Given the description of an element on the screen output the (x, y) to click on. 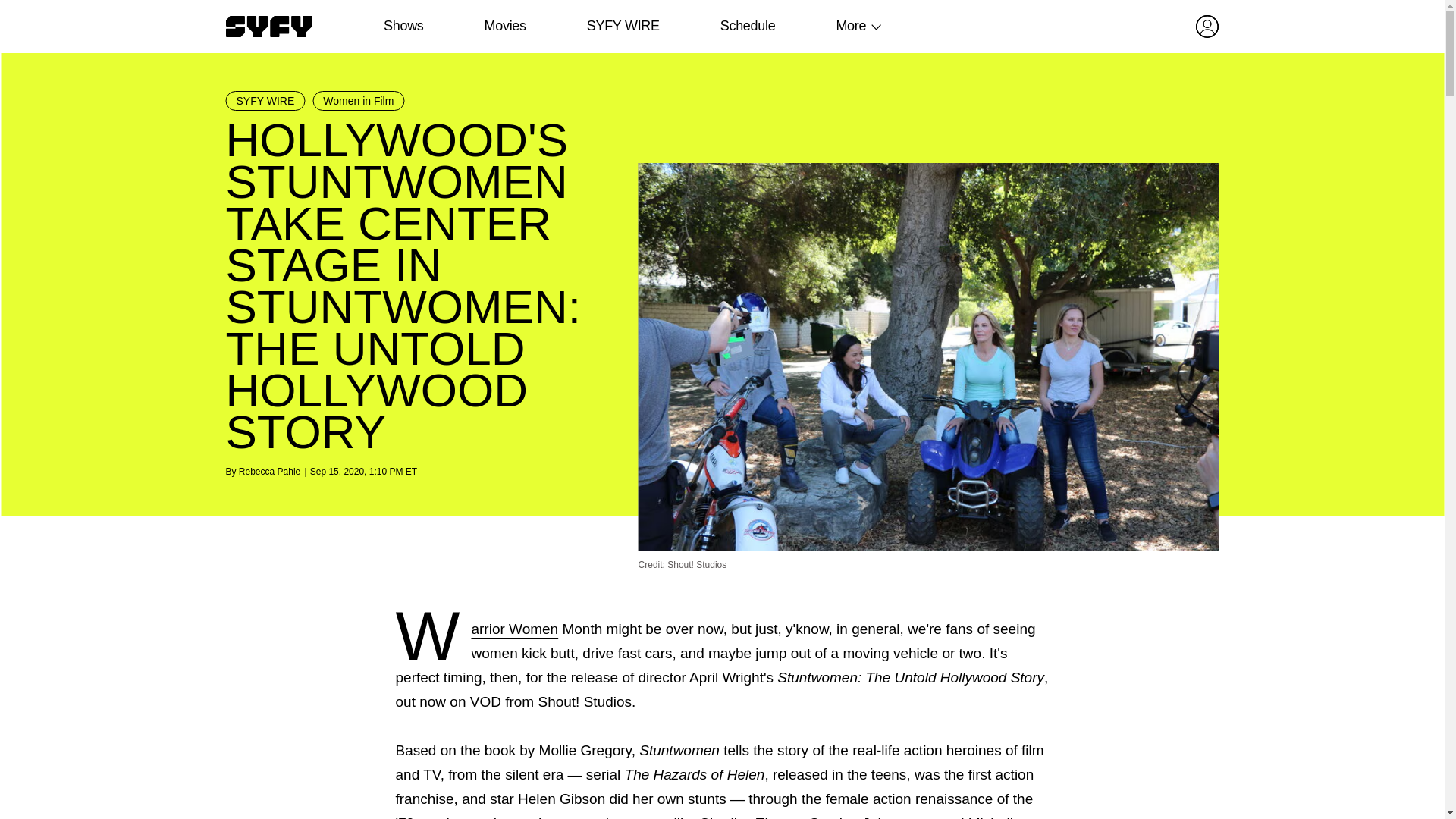
Shows (403, 26)
Warrior Women (513, 628)
Movies (504, 26)
Schedule (746, 26)
SYFY WIRE (265, 100)
More (850, 26)
Women in Film (358, 100)
SYFY WIRE (622, 26)
Rebecca Pahle (268, 471)
